Given the description of an element on the screen output the (x, y) to click on. 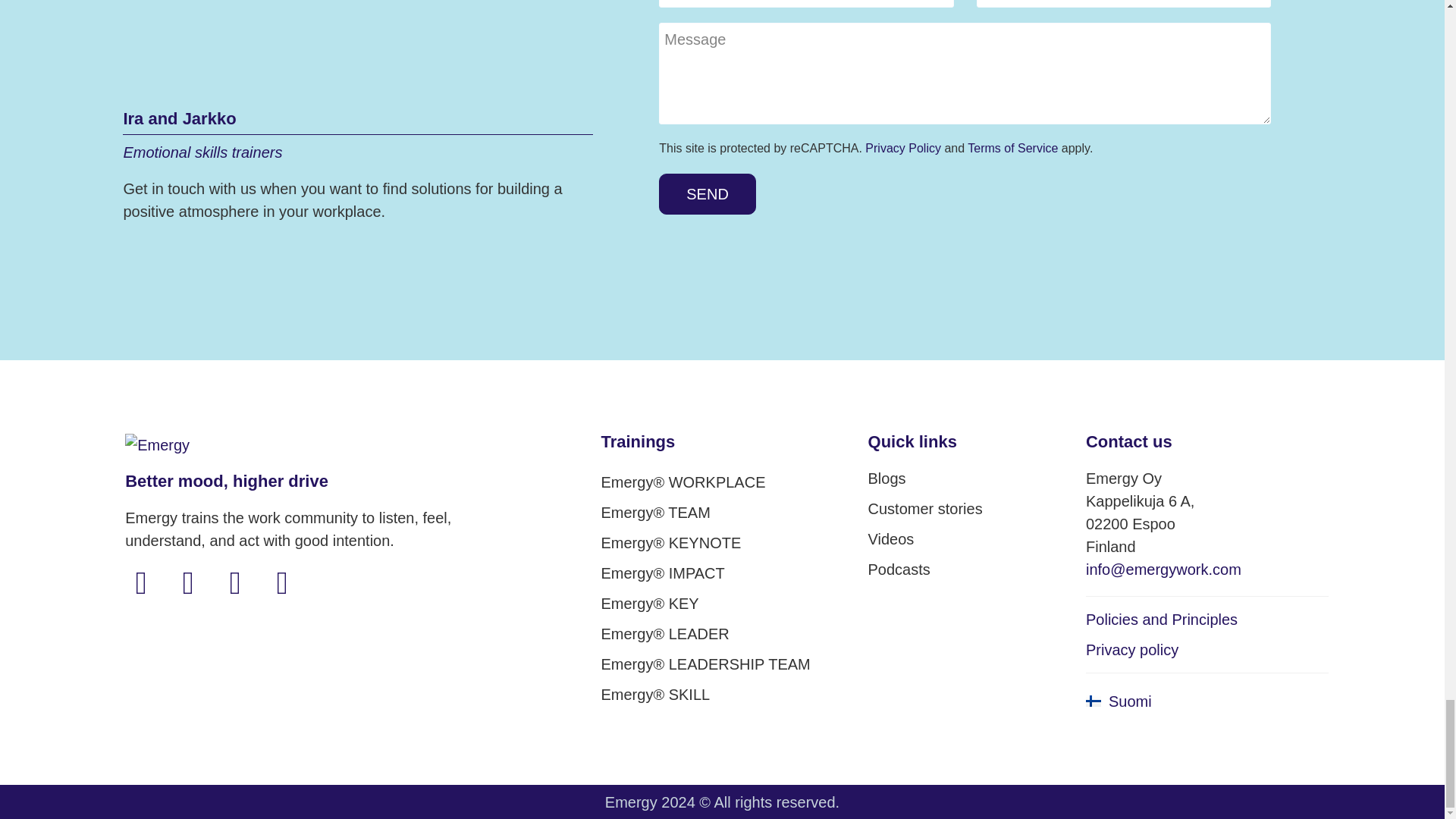
Privacy Policy (1131, 649)
